Given the description of an element on the screen output the (x, y) to click on. 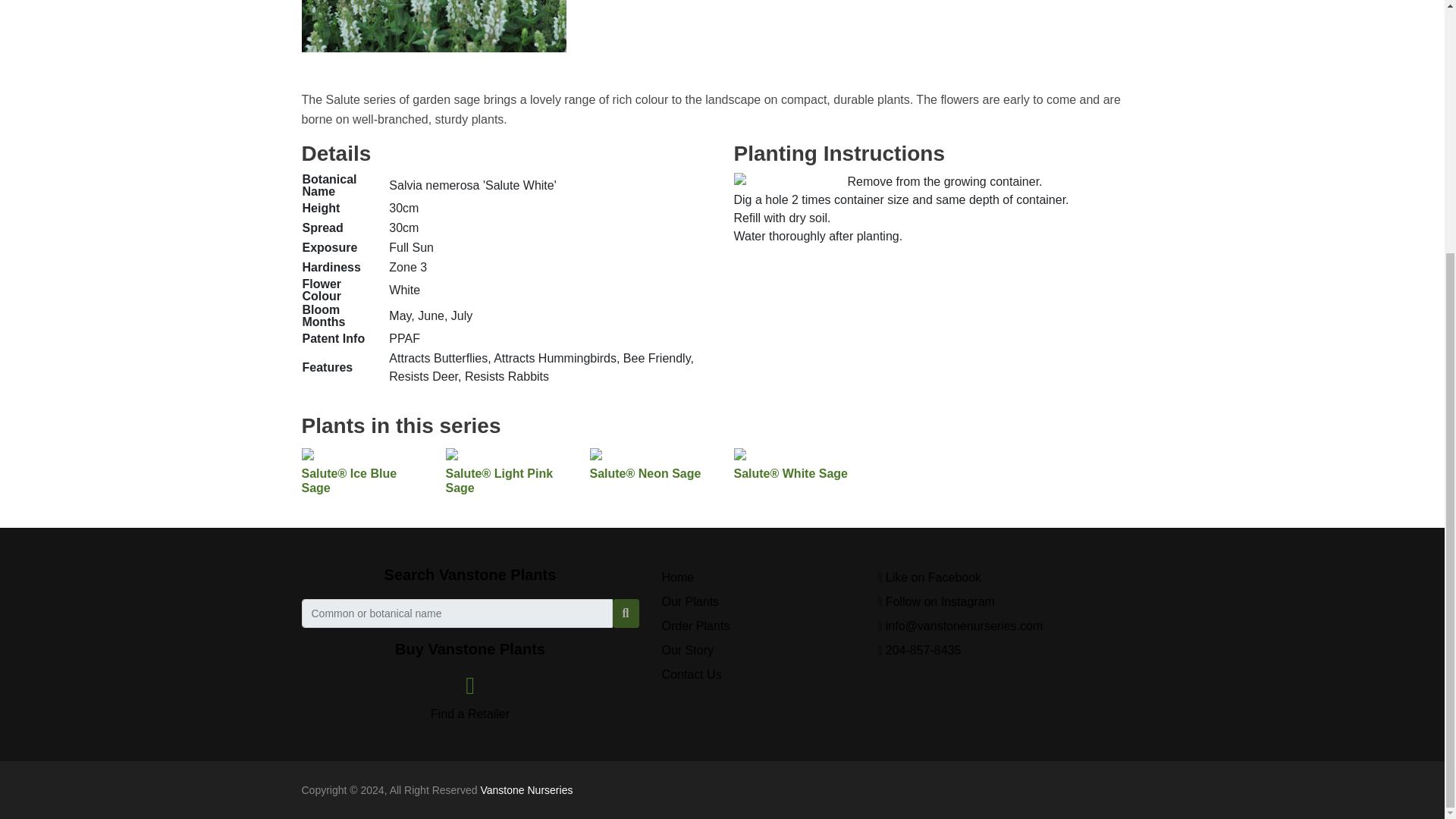
Order Plants (695, 625)
204-857-8435 (918, 649)
Follow on Instagram (935, 601)
Our Story (687, 649)
Contact Us (690, 674)
Our Plants (690, 601)
Vanstone Nurseries (526, 789)
Home (677, 576)
Find a Retailer (469, 701)
Like on Facebook (929, 576)
